Given the description of an element on the screen output the (x, y) to click on. 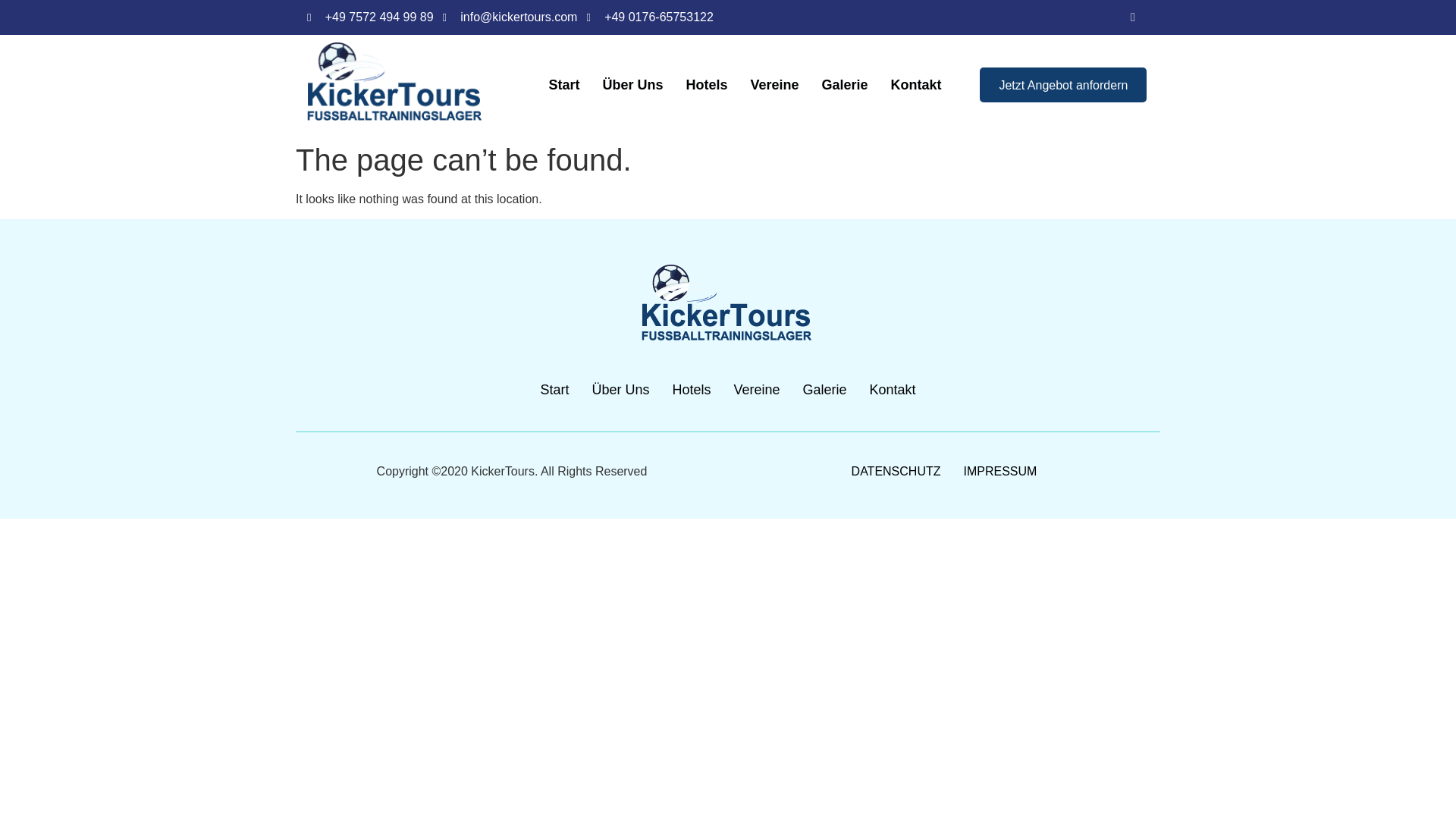
Hotels (691, 389)
Galerie (844, 84)
Kontakt (893, 389)
DATENSCHUTZ (896, 471)
Kontakt (916, 84)
Galerie (825, 389)
IMPRESSUM (1000, 471)
Vereine (773, 84)
Start (564, 84)
Start (553, 389)
Jetzt Angebot anfordern (1063, 84)
Vereine (756, 389)
Hotels (706, 84)
